Given the description of an element on the screen output the (x, y) to click on. 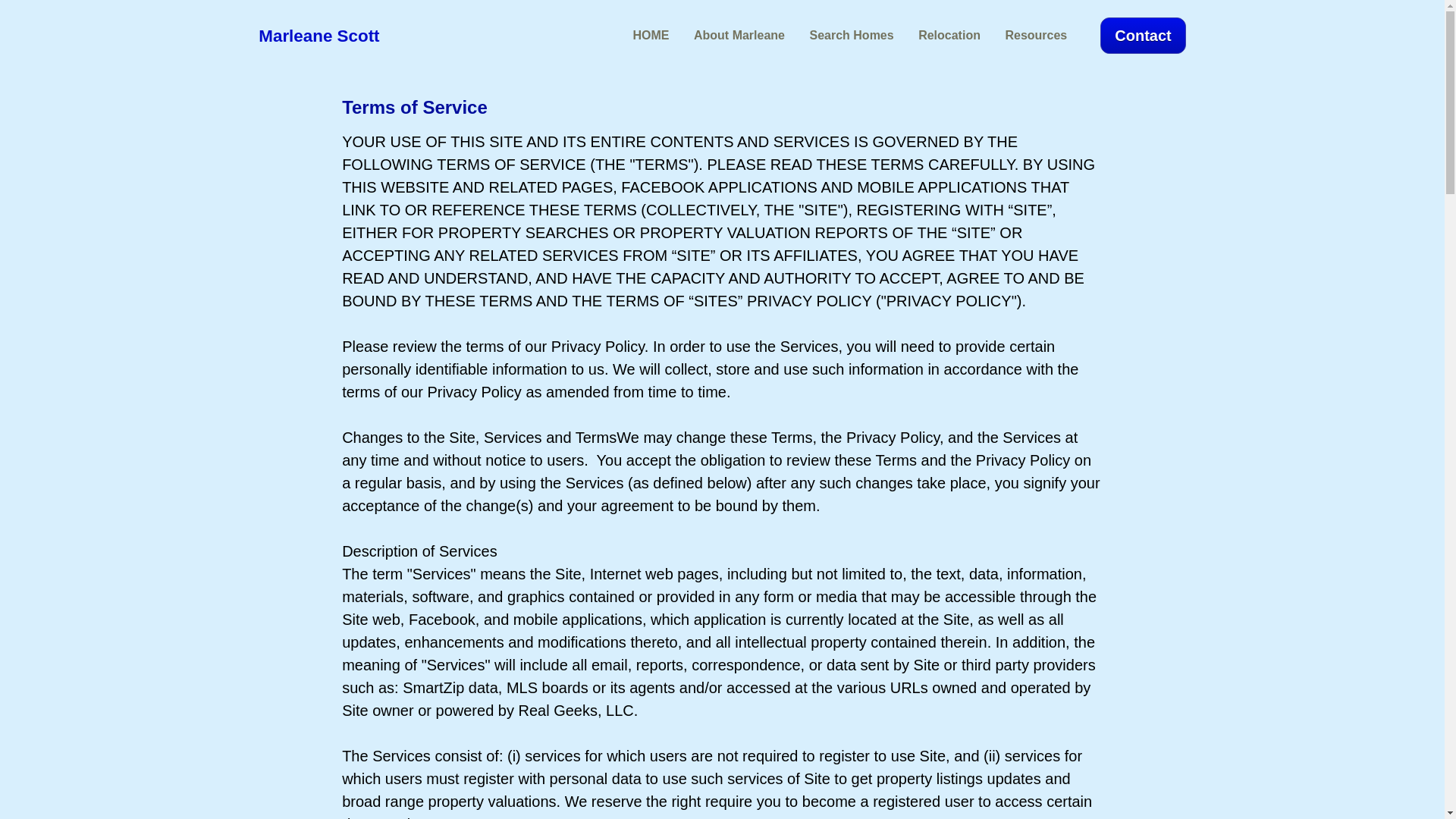
About Marleane (739, 35)
Contact (1142, 35)
Relocation (948, 35)
Marleane Scott (318, 37)
Search Homes (851, 35)
Resources (1035, 35)
HOME (649, 35)
